Given the description of an element on the screen output the (x, y) to click on. 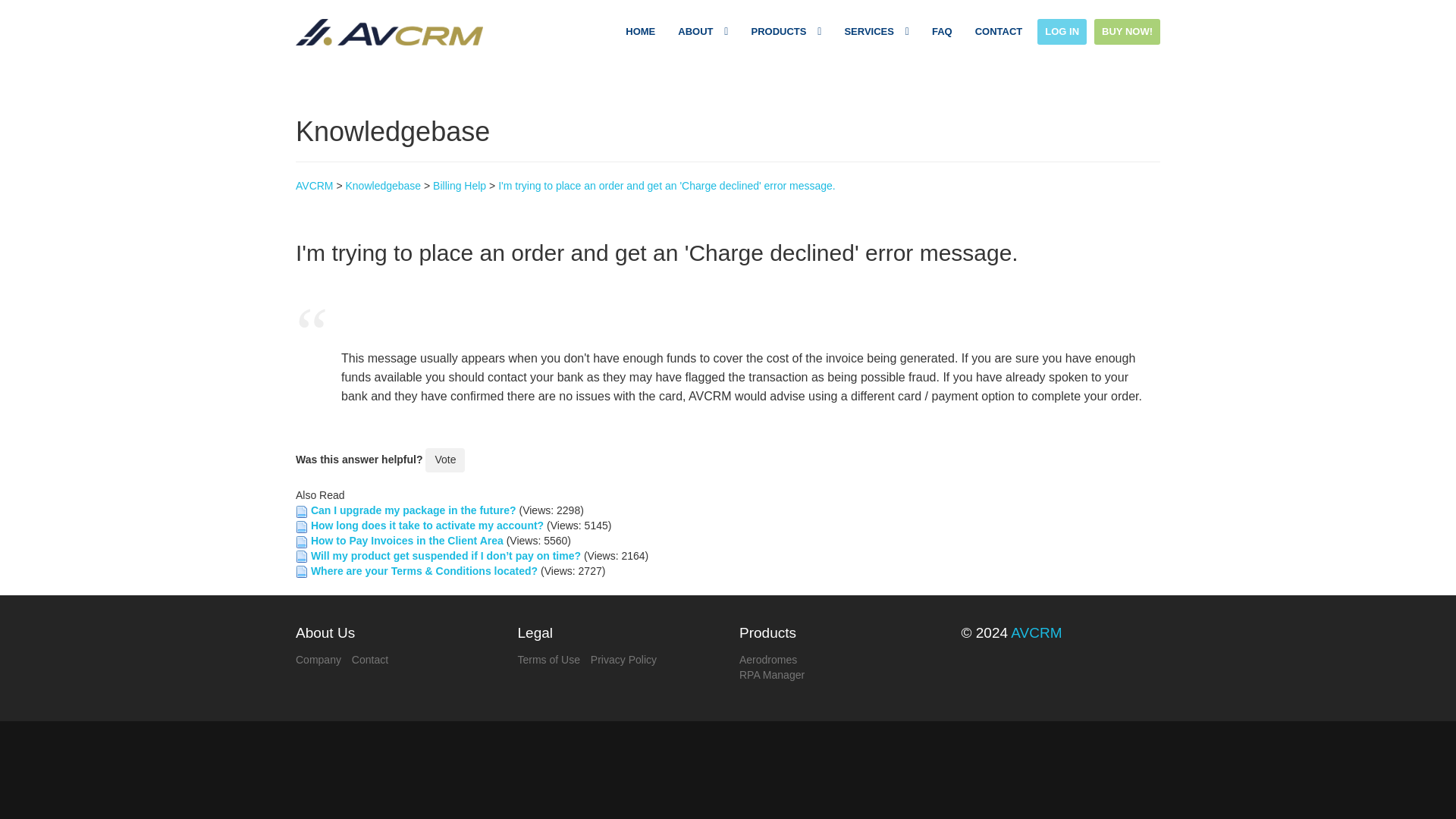
Terms of Use (547, 659)
Vote (444, 459)
Billing Help (459, 185)
Aerodromes (767, 659)
BUY NOW! (1127, 31)
Company (317, 659)
HOME (639, 31)
AVCRM (1035, 632)
RPA Manager (772, 674)
CONTACT (999, 31)
ABOUT (702, 31)
Contact (370, 659)
Privacy Policy (623, 659)
LOG IN (1061, 31)
